Given the description of an element on the screen output the (x, y) to click on. 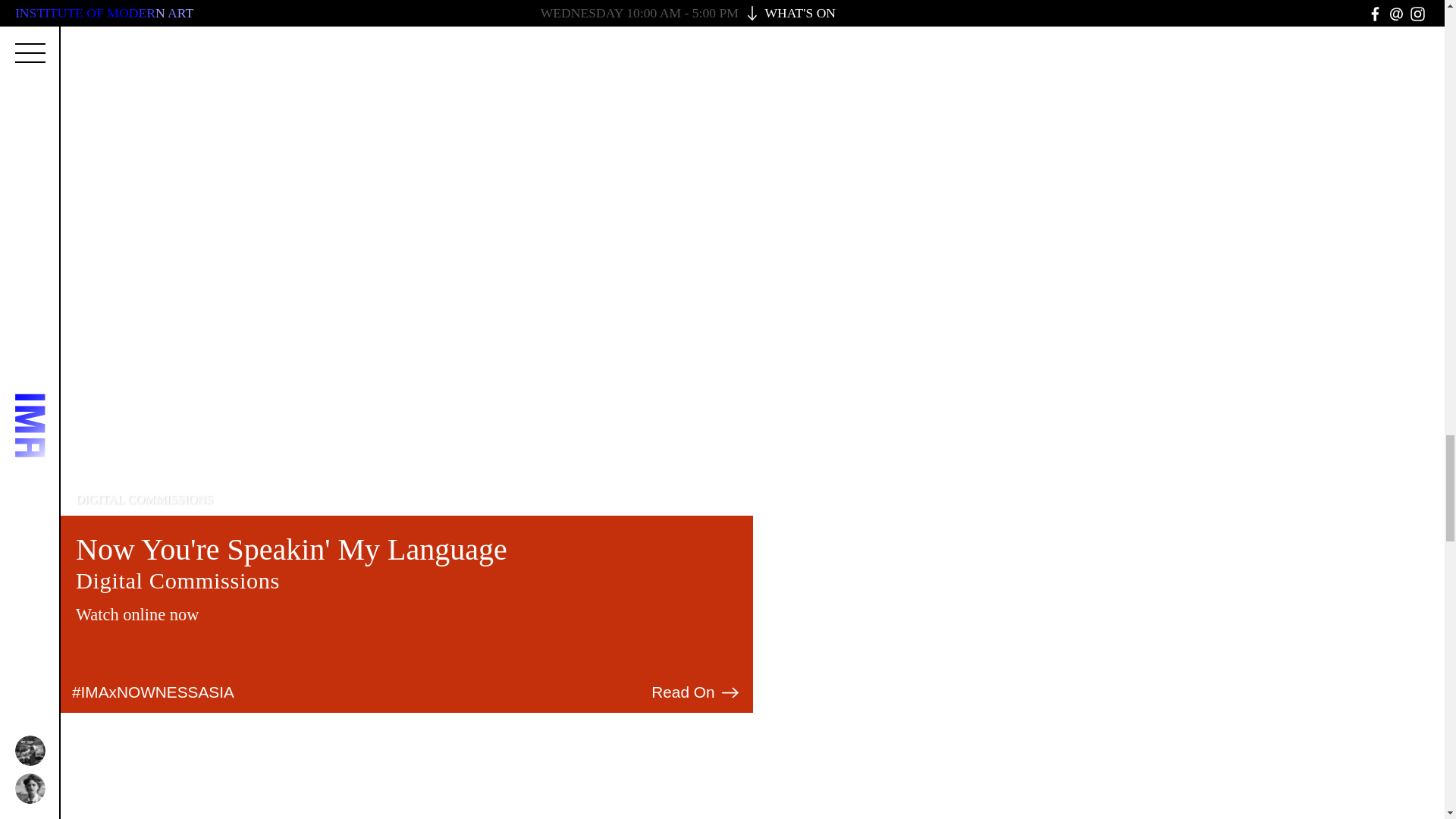
Now You're Speakin' My Language (290, 549)
Read On (695, 692)
